Given the description of an element on the screen output the (x, y) to click on. 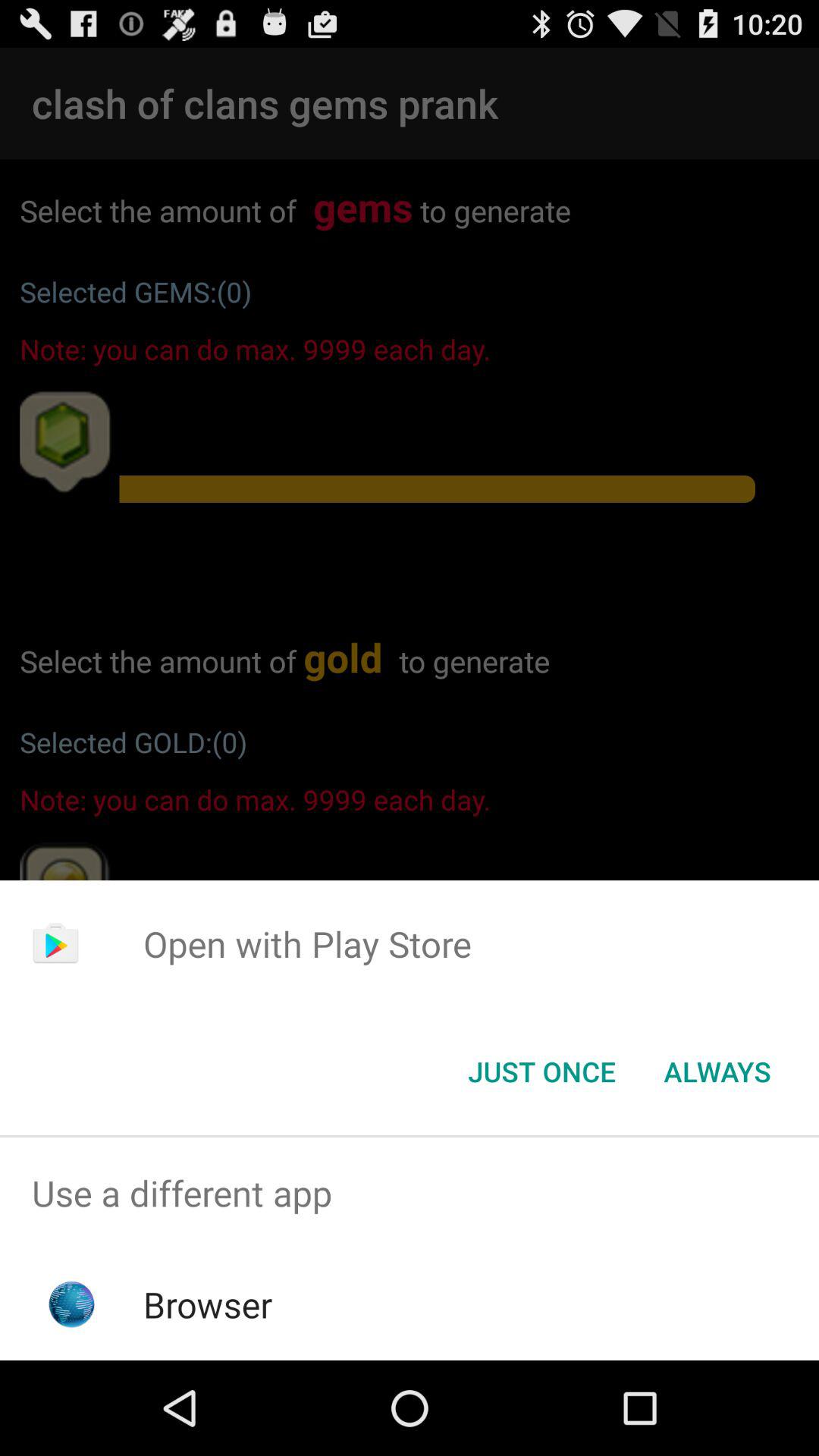
select item to the right of just once button (717, 1071)
